Given the description of an element on the screen output the (x, y) to click on. 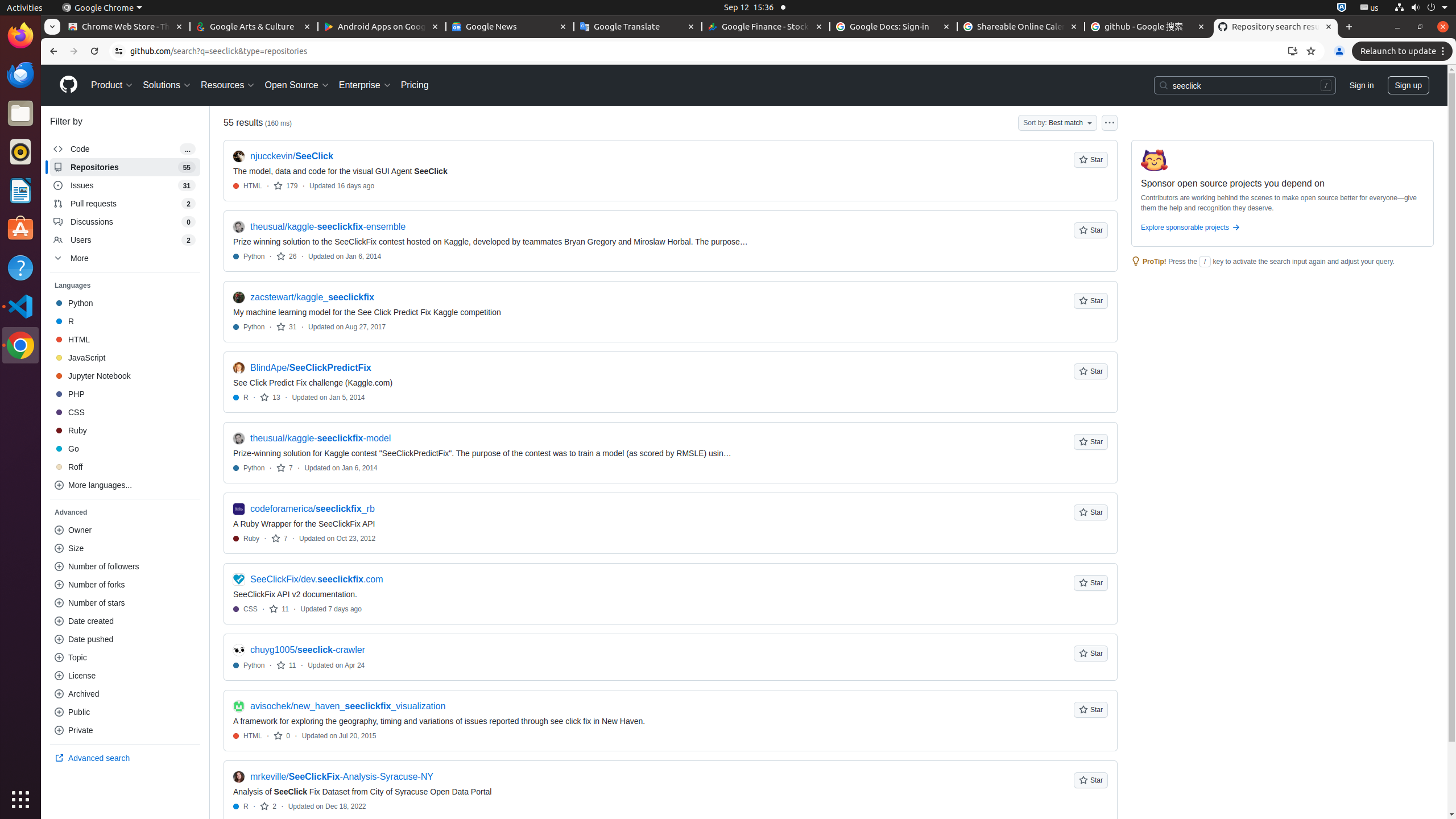
Bookmark this tab Element type: push-button (1310, 51)
‎Date created‎ Element type: push-button (125, 620)
More languages... Element type: push-button (125, 485)
Repositories , 55 results  (55) Element type: link (125, 167)
13 stars Element type: link (269, 396)
